Given the description of an element on the screen output the (x, y) to click on. 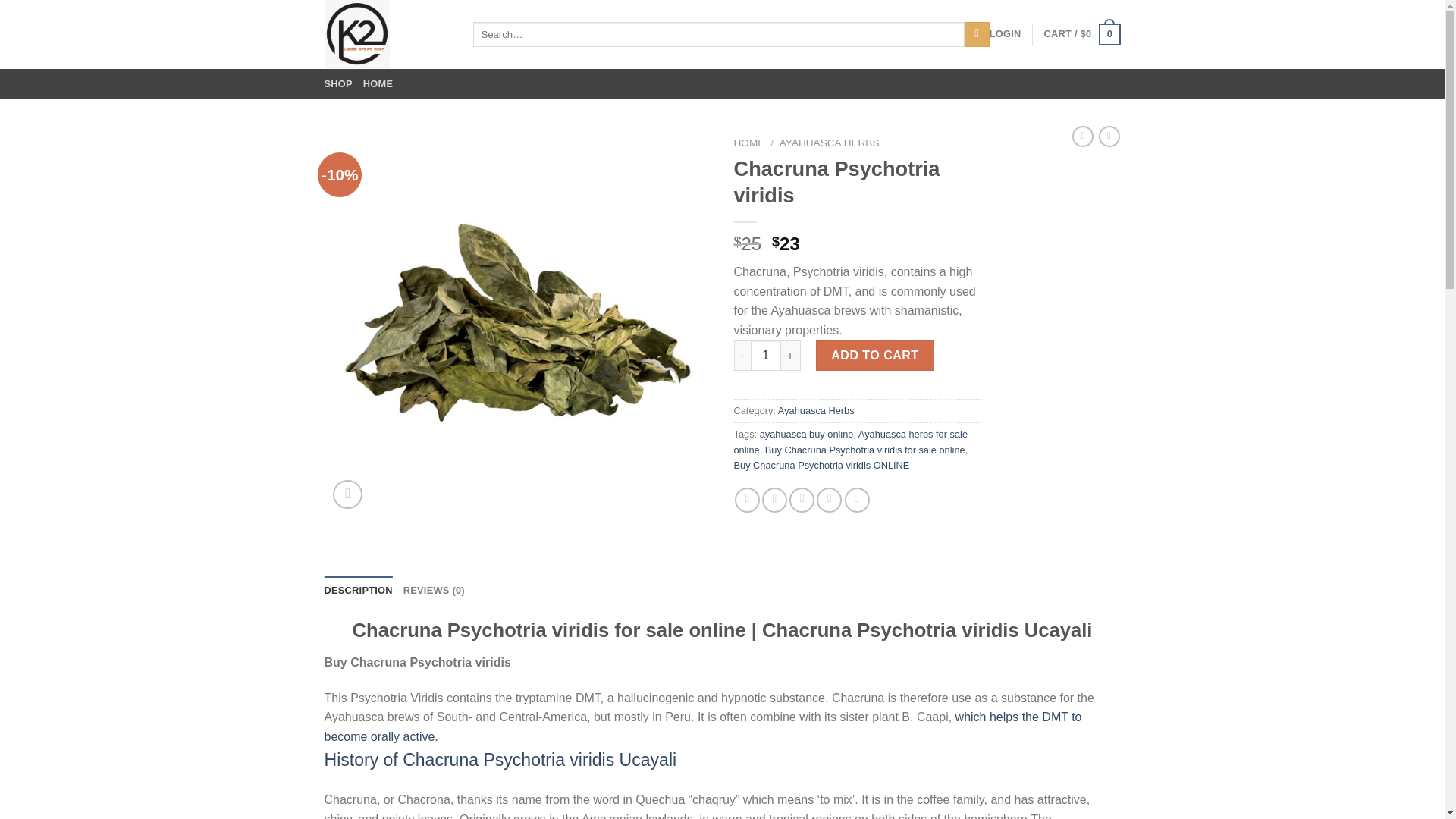
SHOP (338, 83)
HOME (749, 142)
HOME (377, 83)
ADD TO CART (874, 355)
Search (976, 34)
DESCRIPTION (358, 590)
Buy Chacruna Psychotria viridis for sale online (865, 449)
LOGIN (1006, 33)
Buy Chacruna Psychotria viridis ONLINE (821, 464)
Cart (1082, 34)
which helps the DMT to become orally active.  (702, 726)
1 (765, 355)
ayahuasca buy online (806, 433)
AYAHUASCA HERBS (828, 142)
